Given the description of an element on the screen output the (x, y) to click on. 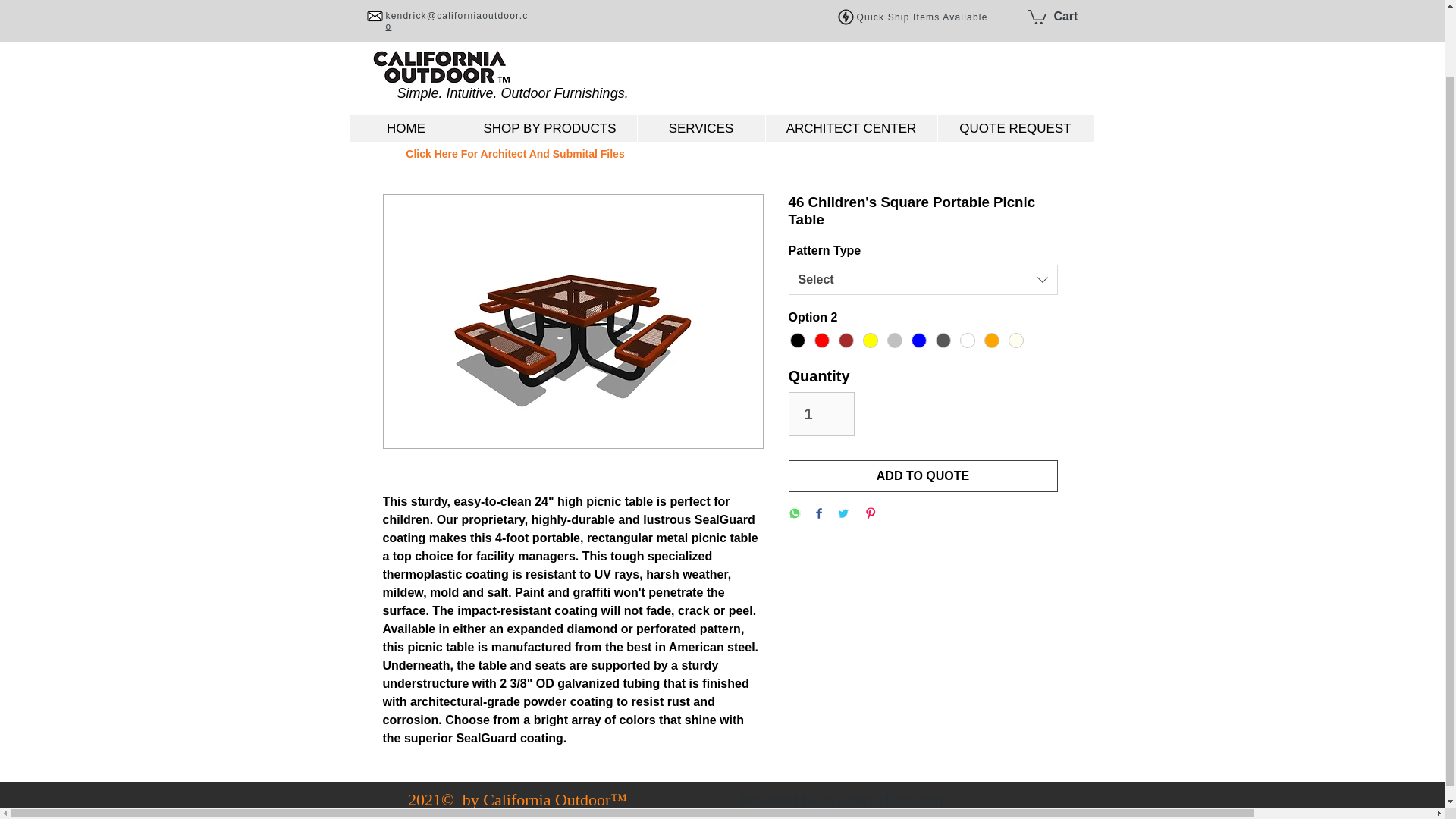
CLICK HERE FOR PRICING (695, 92)
ADD TO QUOTE (923, 476)
biycleparking.com (884, 799)
SERVICES (701, 53)
QUOTE REQUEST (1015, 53)
Click Here For Architect And Submital Files (514, 154)
SHOP BY PRODUCTS (550, 53)
ARCHITECT CENTER (850, 53)
1 (821, 413)
Select (923, 279)
HOME (406, 53)
